Given the description of an element on the screen output the (x, y) to click on. 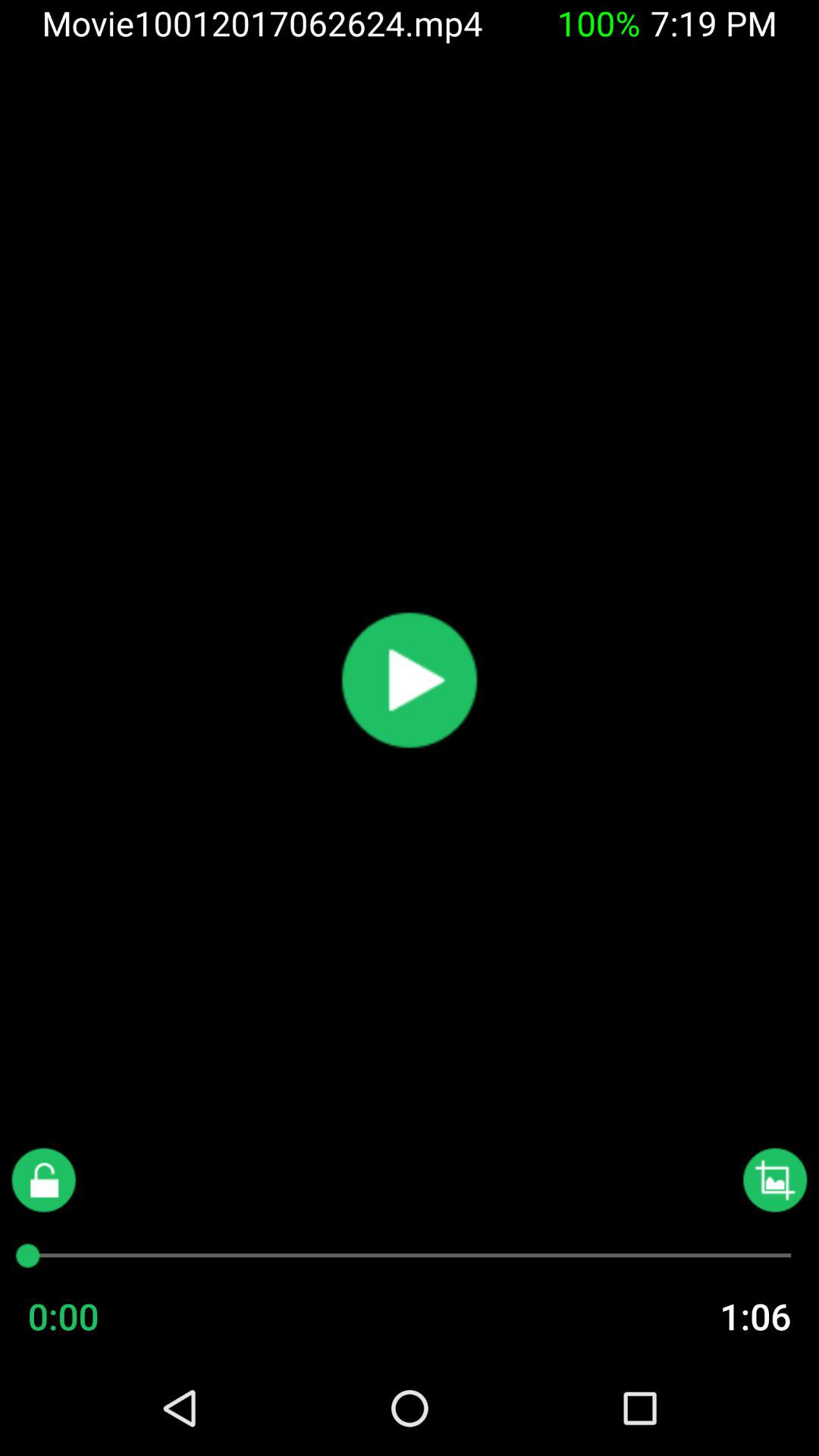
go to image (775, 1179)
